Given the description of an element on the screen output the (x, y) to click on. 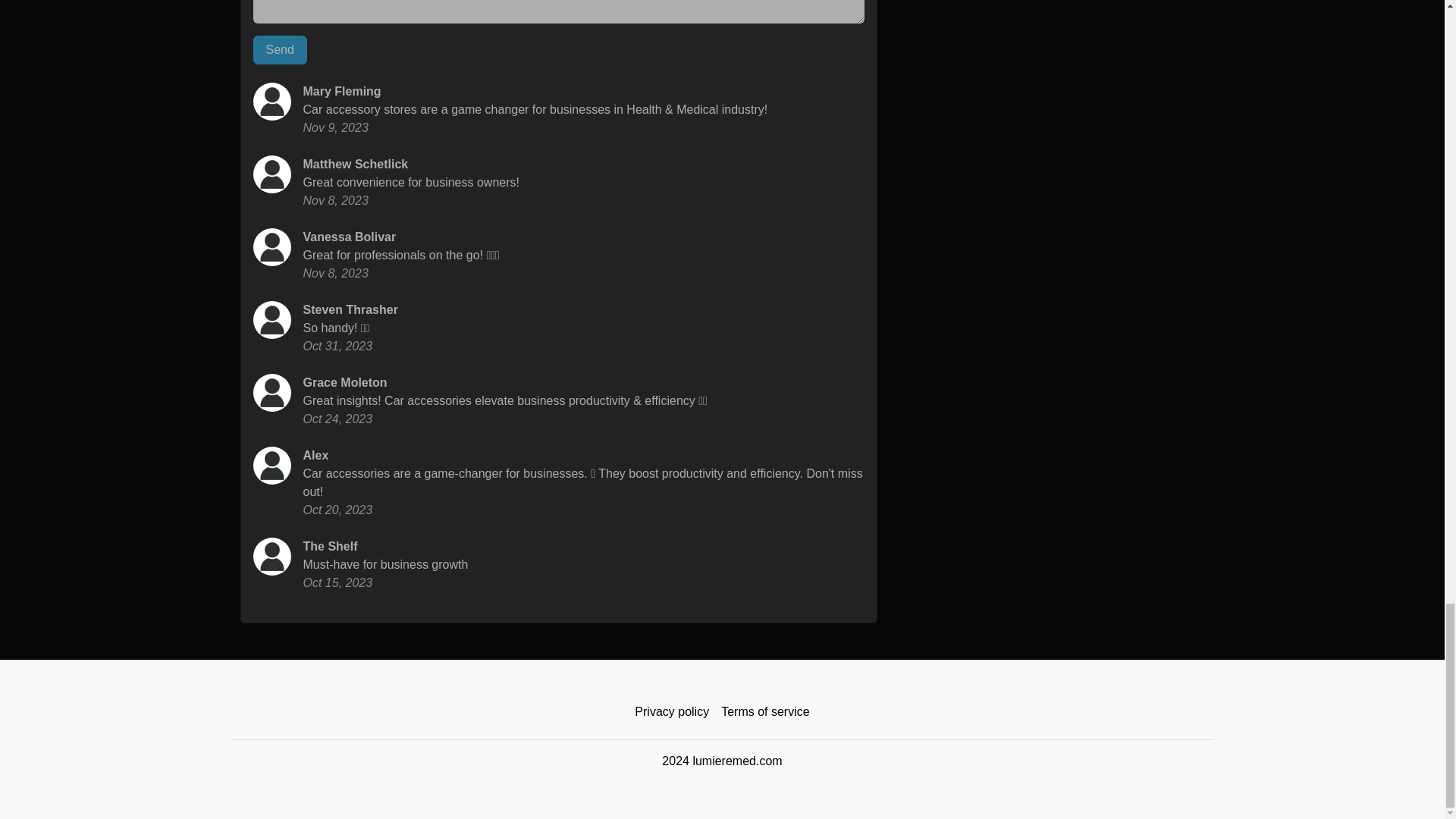
Send (280, 50)
Terms of service (764, 711)
Send (280, 50)
Privacy policy (671, 711)
